Given the description of an element on the screen output the (x, y) to click on. 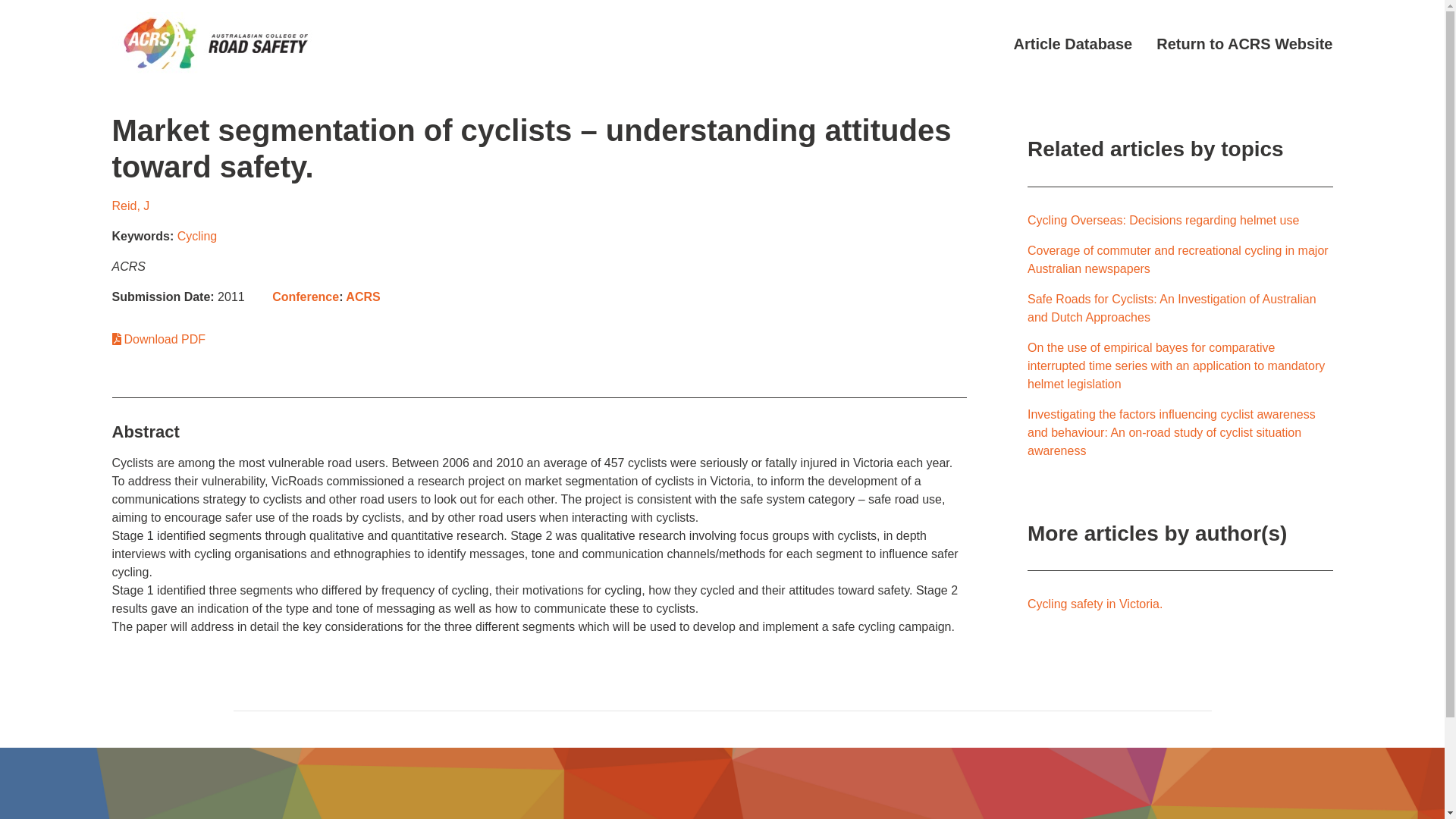
Reid, J (130, 205)
Return to ACRS Website (1244, 43)
Download PDF (159, 338)
Cycling (196, 236)
Cycling safety in Victoria. (1094, 603)
Cycling Overseas: Decisions regarding helmet use (1162, 219)
Article Database (1072, 43)
Conference (305, 296)
ACRS (363, 296)
